Given the description of an element on the screen output the (x, y) to click on. 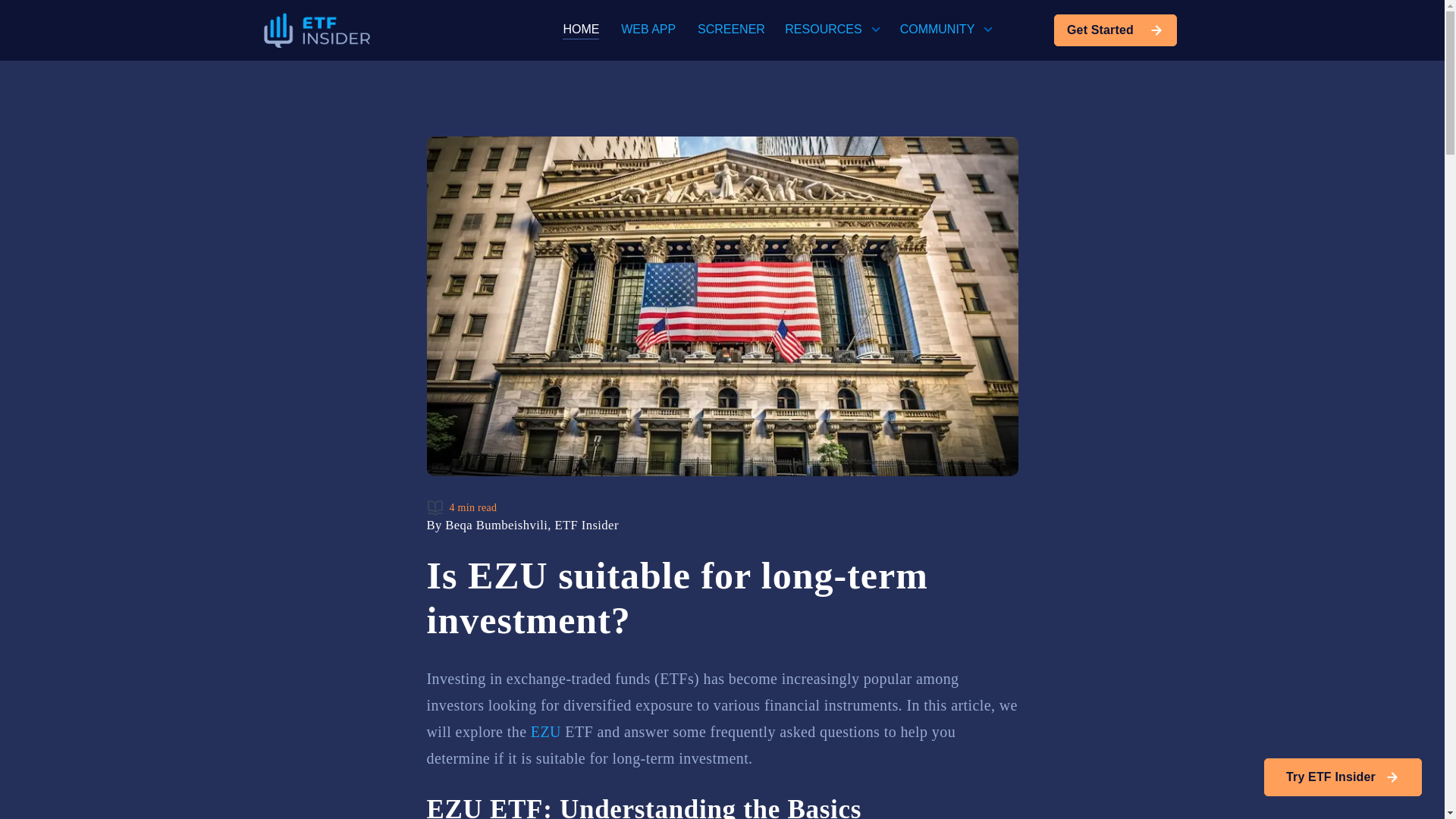
HOME (580, 30)
Beqa Bumbeishvili (496, 524)
Get Started (1115, 29)
SCREENER (731, 29)
WEB APP (648, 29)
Try ETF Insider (1342, 777)
EZU (545, 731)
